Given the description of an element on the screen output the (x, y) to click on. 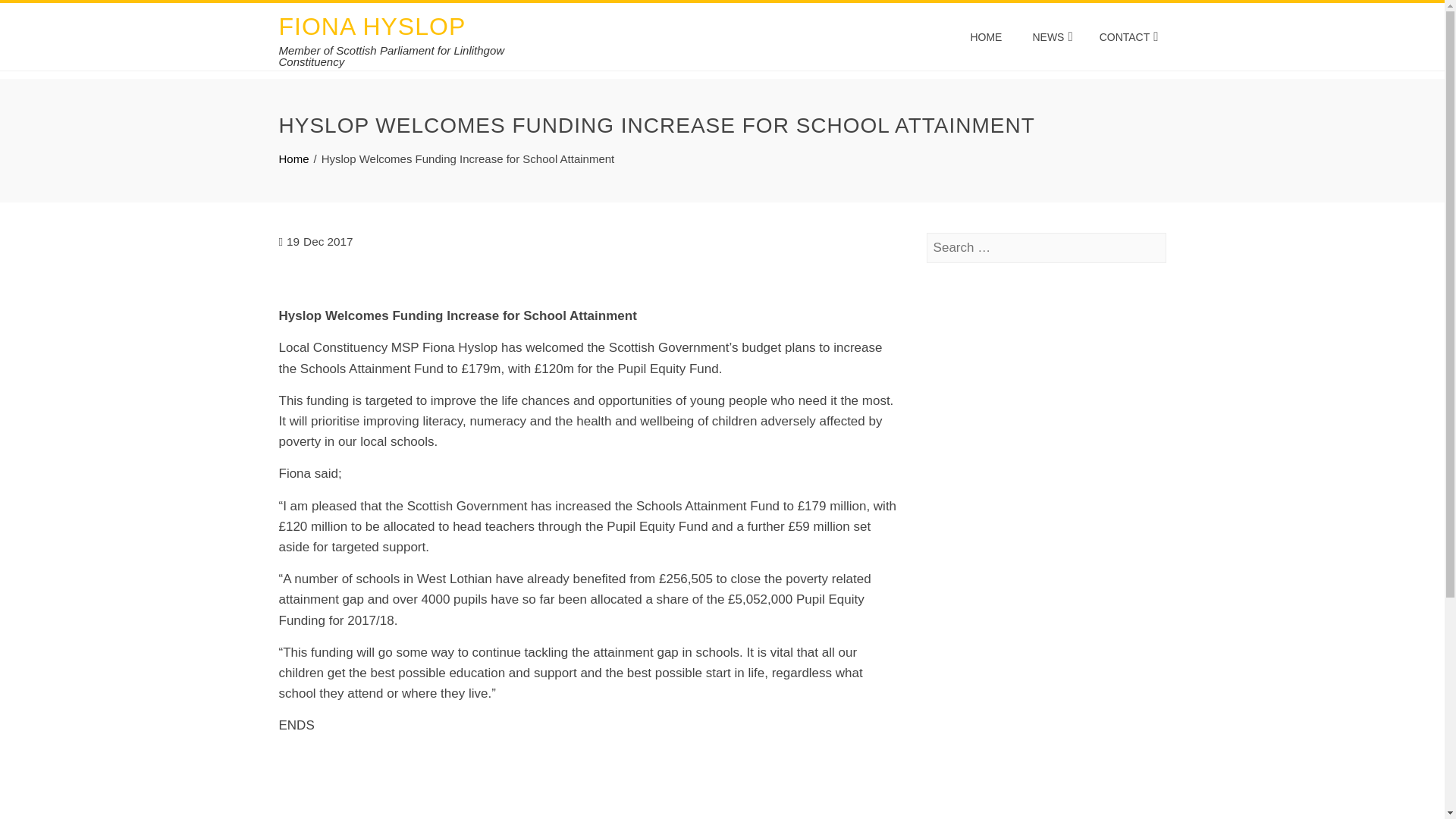
NEWS (1050, 36)
HOME (985, 36)
FIONA HYSLOP (372, 26)
Home (293, 158)
Search (35, 15)
Member of Scottish Parliament for Linlithgow Constituency (392, 55)
CONTACT (1126, 36)
